Given the description of an element on the screen output the (x, y) to click on. 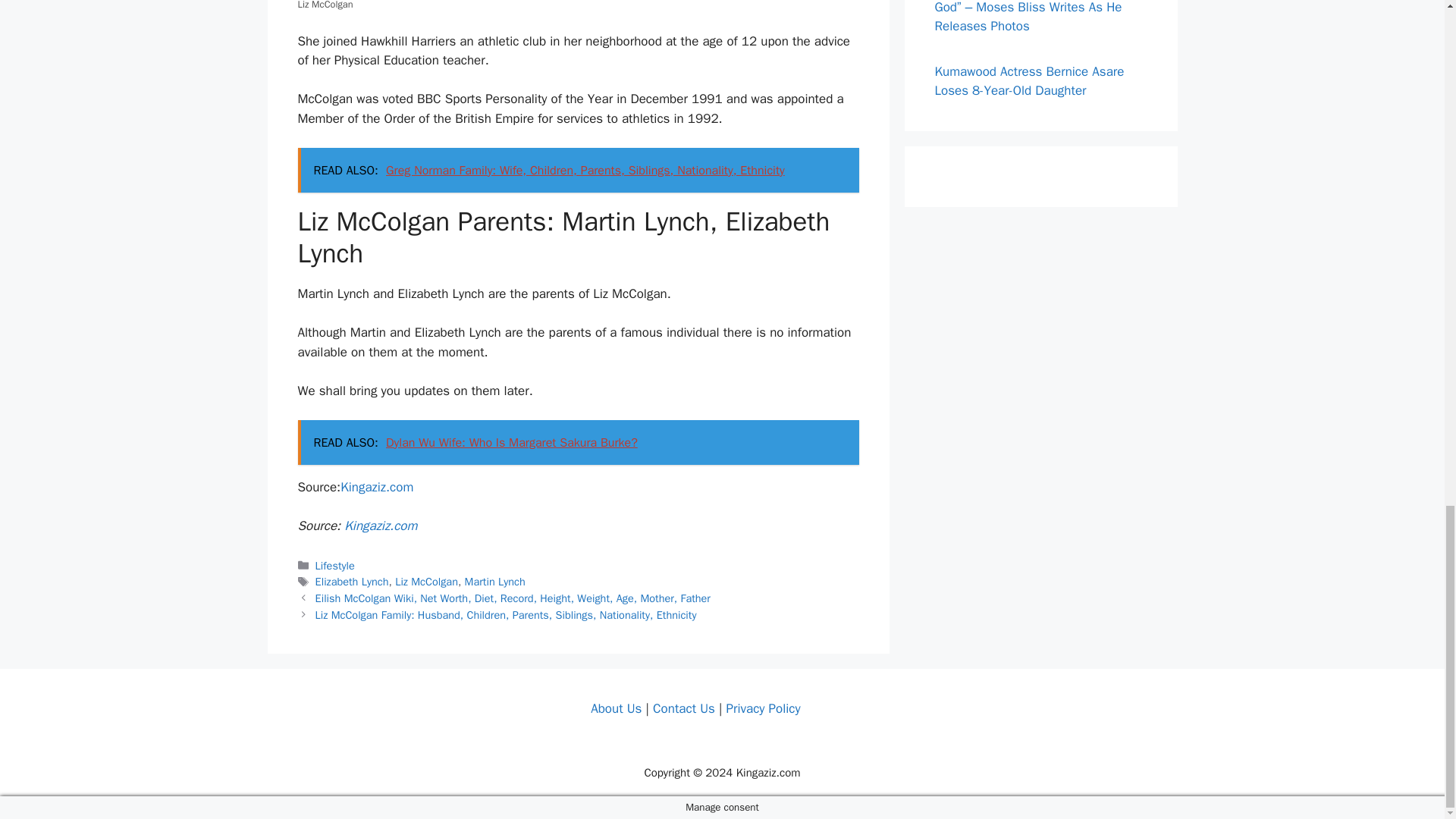
Contact Us (683, 708)
About Us (616, 708)
READ ALSO:  Dylan Wu Wife: Who Is Margaret Sakura Burke? (578, 443)
Elizabeth Lynch (351, 581)
Kingaziz.com (376, 487)
Kumawood Actress Bernice Asare Loses 8-Year-Old Daughter (1029, 81)
Privacy Policy (762, 708)
